Given the description of an element on the screen output the (x, y) to click on. 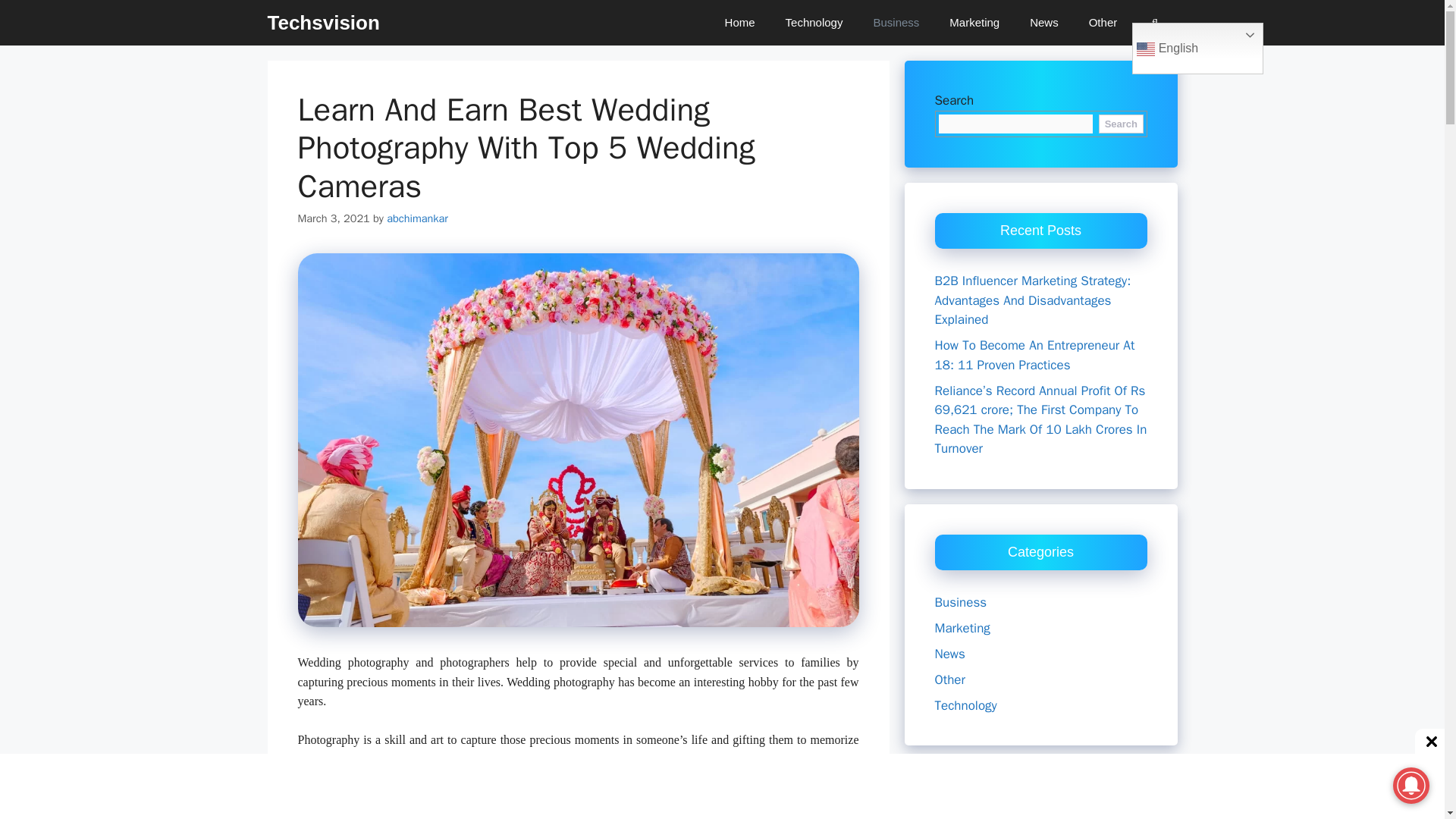
Home (740, 22)
English (1197, 48)
Marketing (974, 22)
Other (1103, 22)
Technology (814, 22)
View all posts by abchimankar (417, 218)
abchimankar (417, 218)
Business (895, 22)
Techsvision (322, 22)
News (1044, 22)
